Given the description of an element on the screen output the (x, y) to click on. 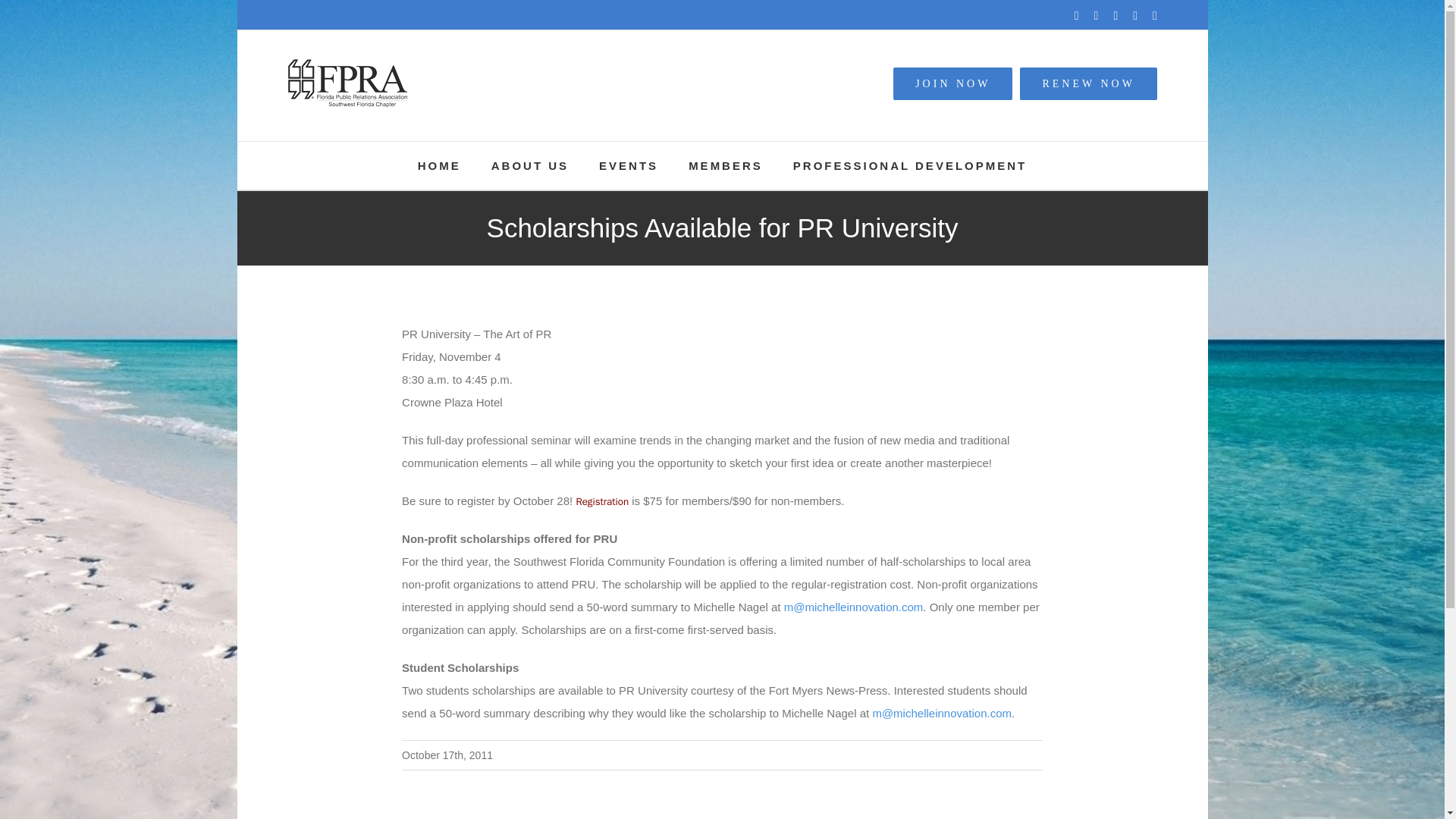
EVENTS (628, 165)
MEMBERS (725, 165)
RENEW NOW (1088, 83)
JOIN NOW (952, 83)
ABOUT US (530, 165)
HOME (439, 165)
PROFESSIONAL DEVELOPMENT (909, 165)
